Given the description of an element on the screen output the (x, y) to click on. 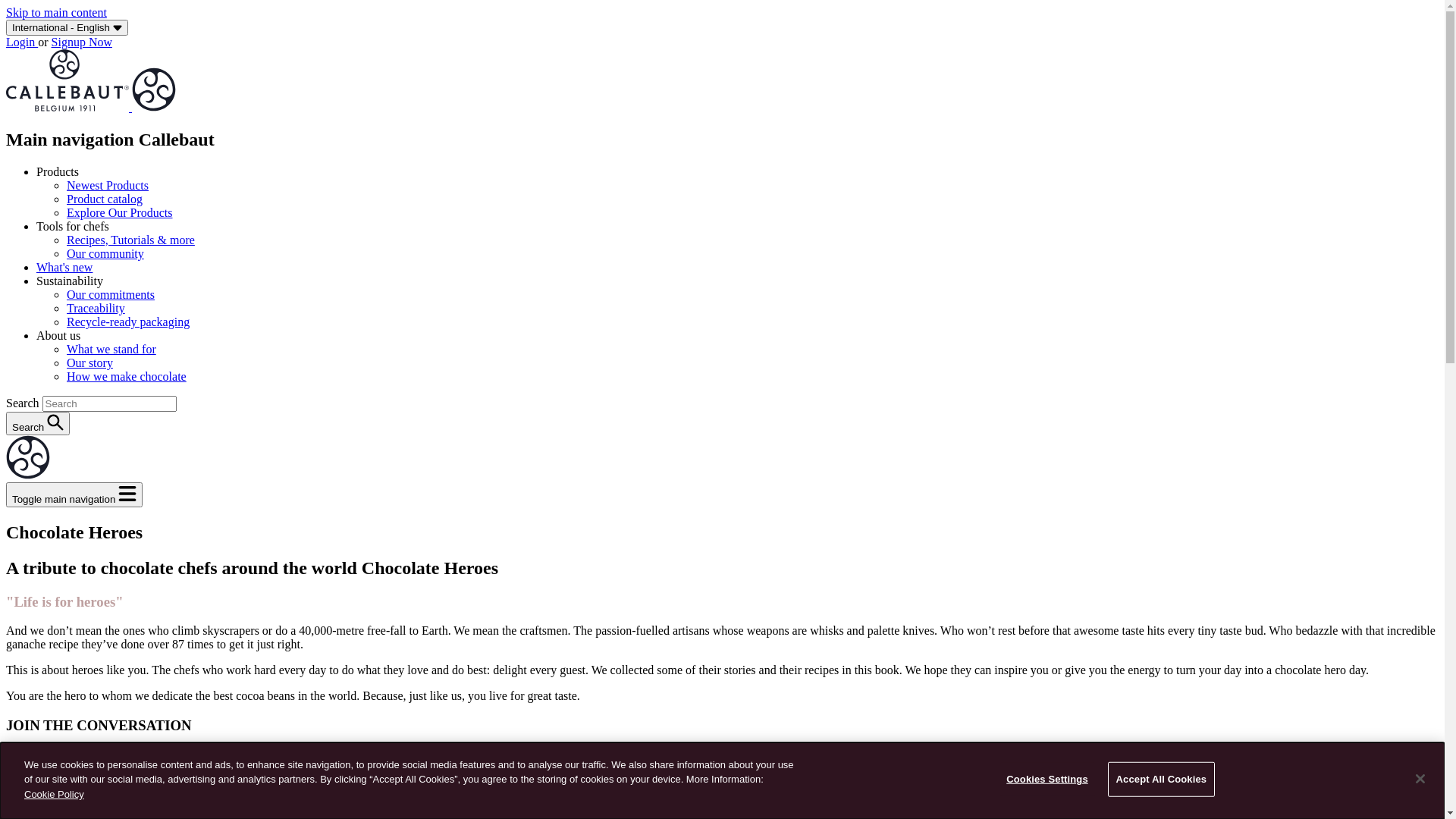
International - English Element type: text (67, 27)
Product catalog Element type: text (104, 198)
What's new Element type: text (64, 266)
Toggle main navigation Element type: text (74, 494)
Skip to main content Element type: text (56, 12)
What we stand for Element type: text (111, 348)
Our commitments Element type: text (110, 294)
Recycle-ready packaging Element type: text (127, 321)
How we make chocolate Element type: text (126, 376)
Cookies Settings Element type: text (1047, 779)
Signup Now Element type: text (81, 41)
Traceability Element type: text (95, 307)
Recipes, Tutorials & more Element type: text (130, 239)
Our community Element type: text (105, 253)
Search Element type: text (37, 423)
Our story Element type: text (89, 362)
Cookie Policy Element type: text (54, 794)
Accept All Cookies Element type: text (1161, 779)
Explore Our Products Element type: text (119, 212)
Login Element type: text (21, 41)
Newest Products Element type: text (107, 184)
